Given the description of an element on the screen output the (x, y) to click on. 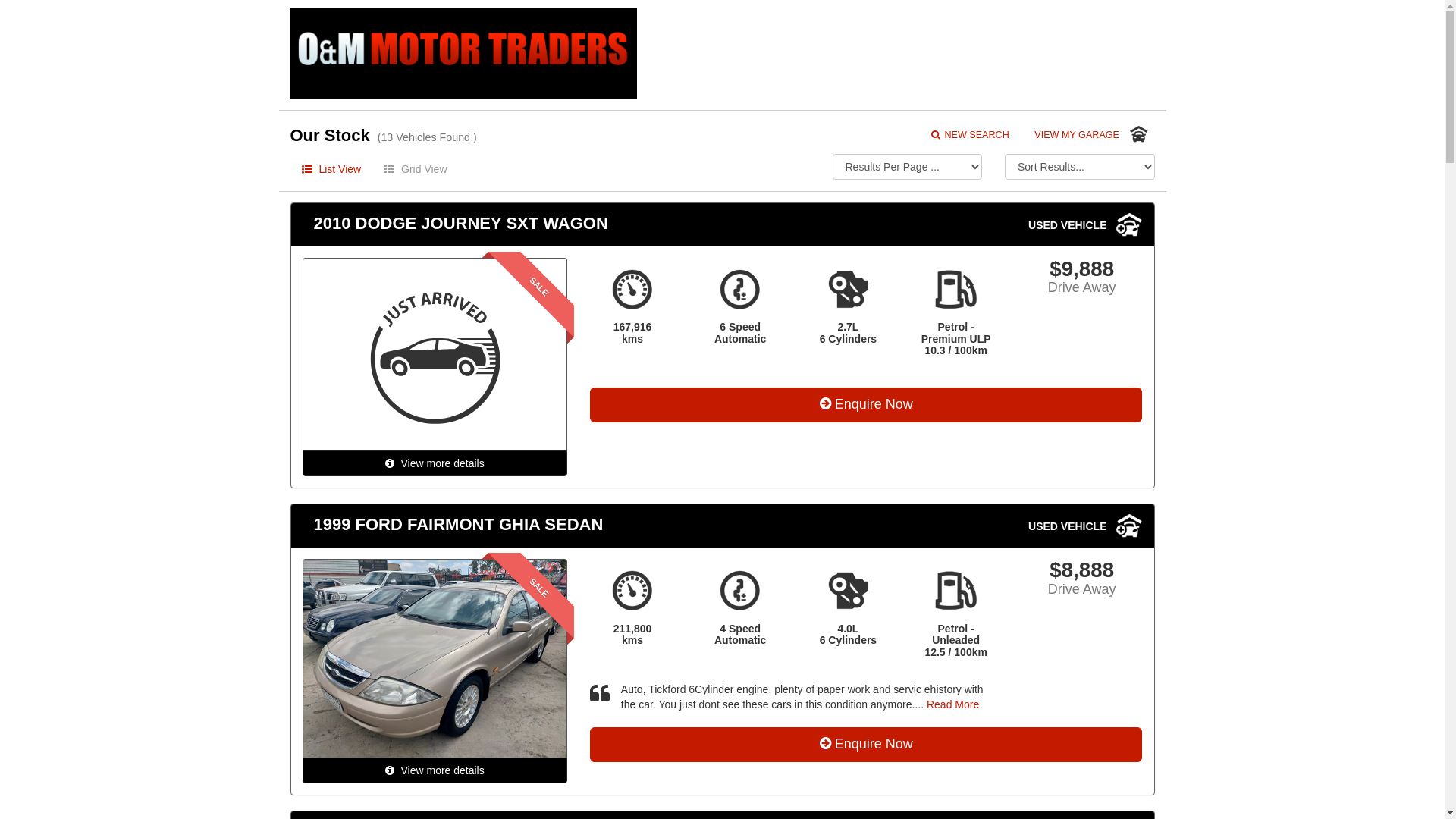
List View Element type: text (330, 168)
Read More Element type: text (952, 704)
1999 FORD FAIRMONT GHIA SEDAN Element type: text (617, 524)
View more details Element type: text (433, 463)
NEW SEARCH Element type: text (969, 134)
Grid View Element type: text (415, 168)
Our Stock(13 Vehicles Found ) Element type: text (463, 135)
 VIEW MY GARAGE Element type: text (1093, 134)
Enquire Now Element type: text (865, 744)
View more details Element type: text (433, 770)
Enquire Now Element type: text (865, 404)
2010 DODGE JOURNEY SXT WAGON Element type: text (617, 223)
